Given the description of an element on the screen output the (x, y) to click on. 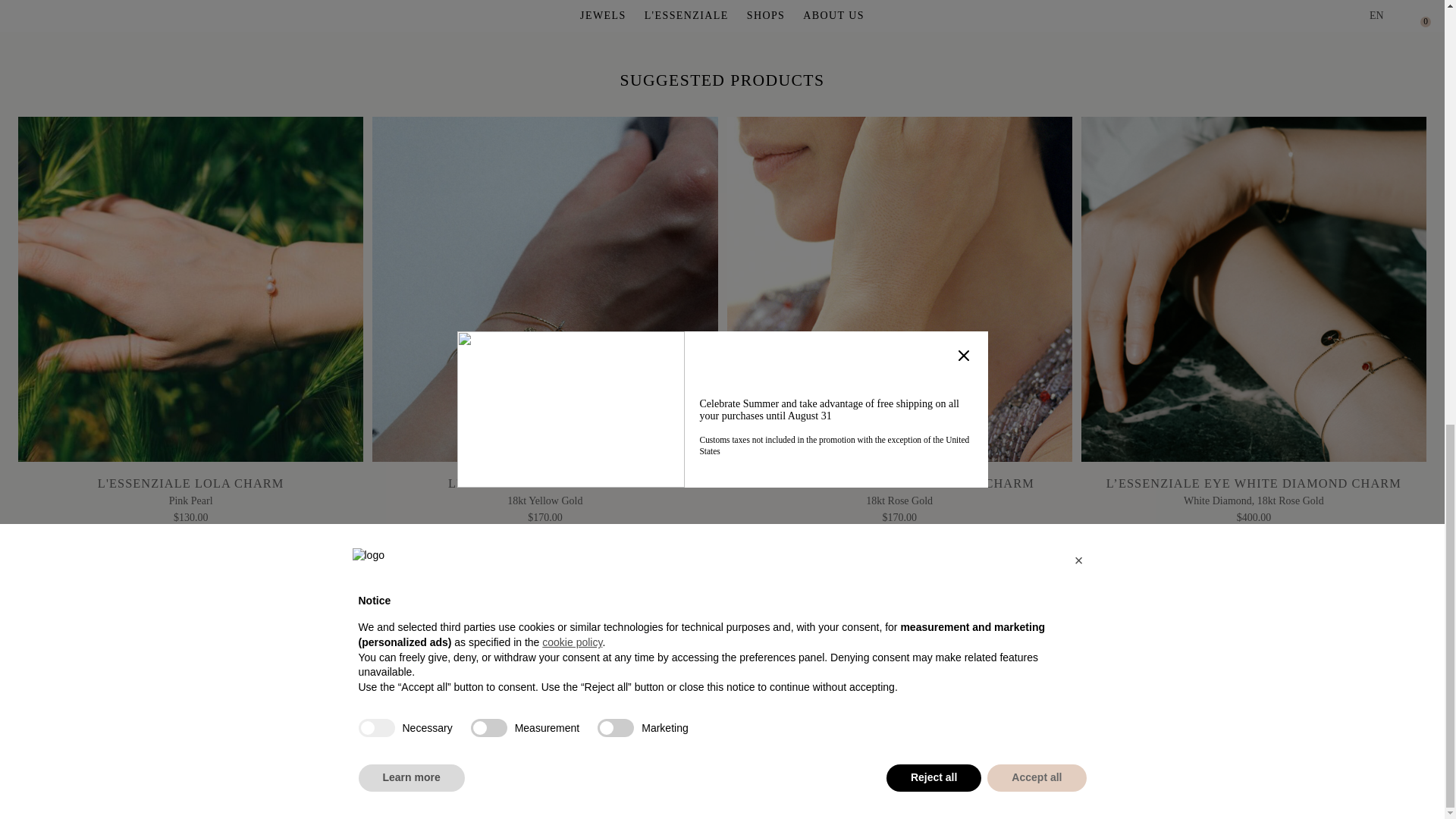
Terms and conditions (436, 783)
Cookie Policy  (635, 783)
Privacy Policy (547, 783)
